Given the description of an element on the screen output the (x, y) to click on. 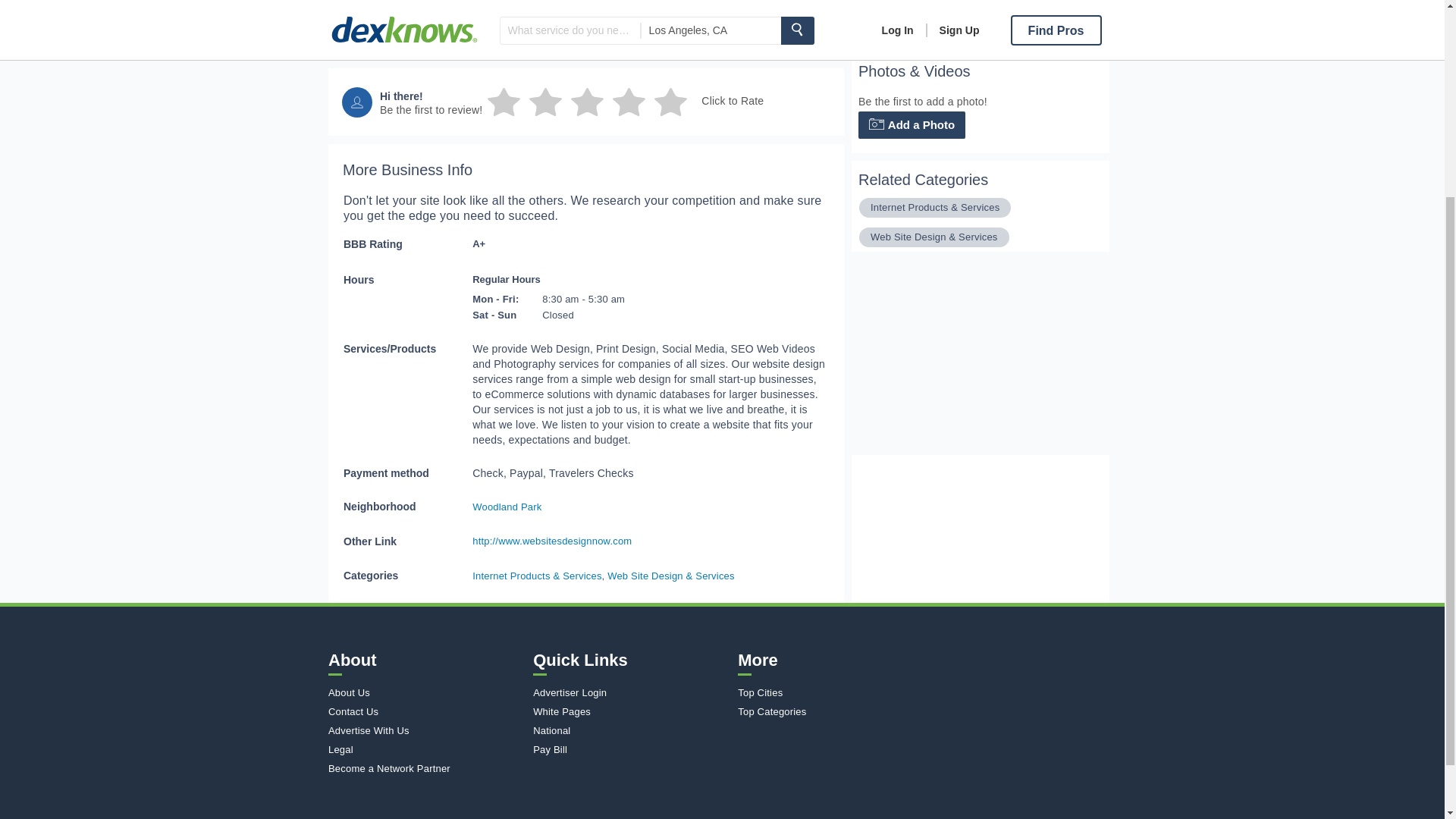
Woodland Park (506, 506)
White Pages (631, 711)
Add a Photo (912, 124)
Pay Bill (631, 749)
Advertise With Us (427, 730)
3rd party ad content (964, 360)
About Us (427, 692)
PAYPAL (928, 22)
TRAVELERS CHECKS (976, 22)
Legal (427, 749)
Advertiser Login (631, 692)
CHECK (880, 22)
Contact Us (427, 711)
National (631, 730)
Become a Network Partner (427, 767)
